Given the description of an element on the screen output the (x, y) to click on. 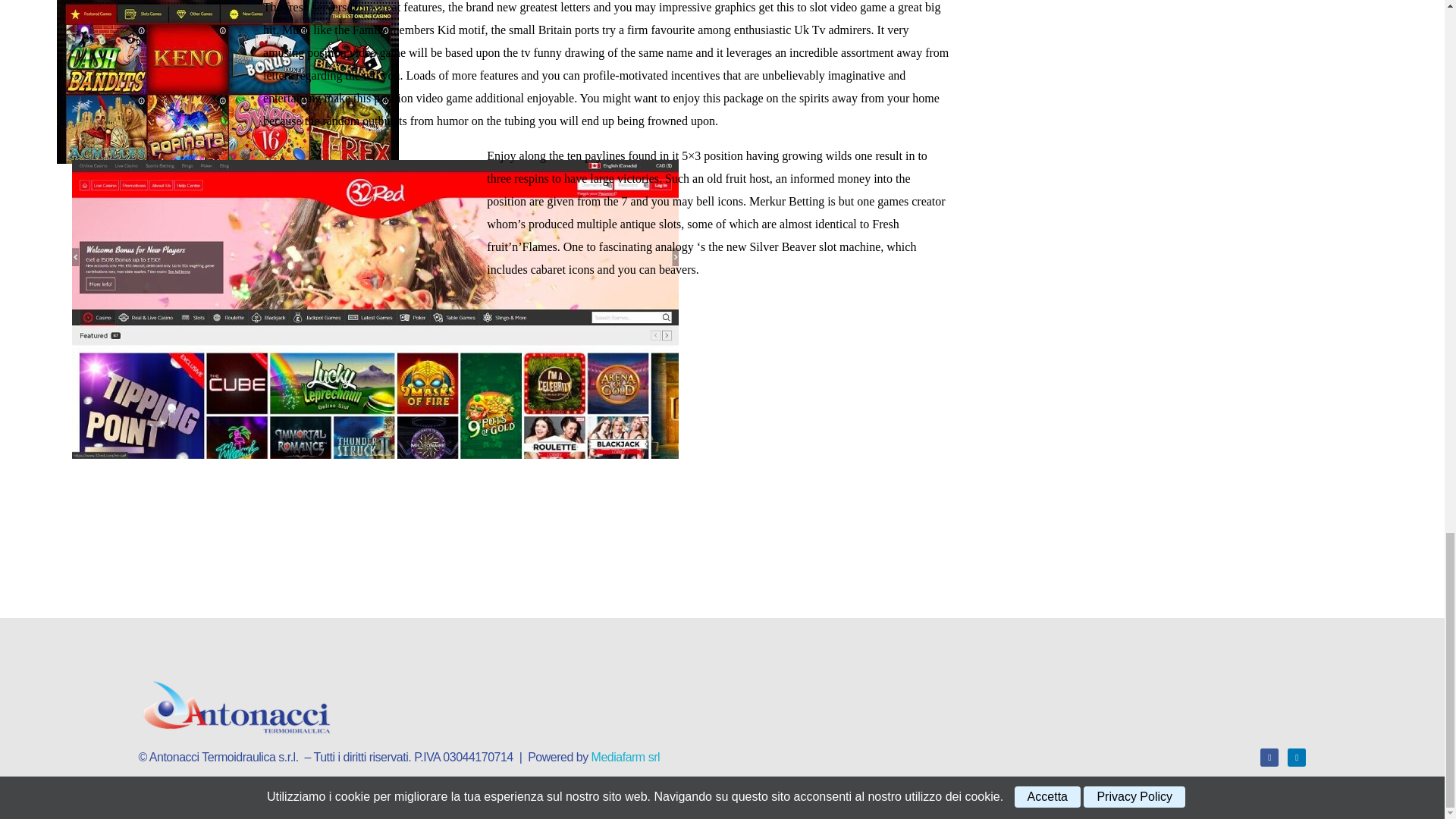
Mediafarm srl (625, 757)
